Given the description of an element on the screen output the (x, y) to click on. 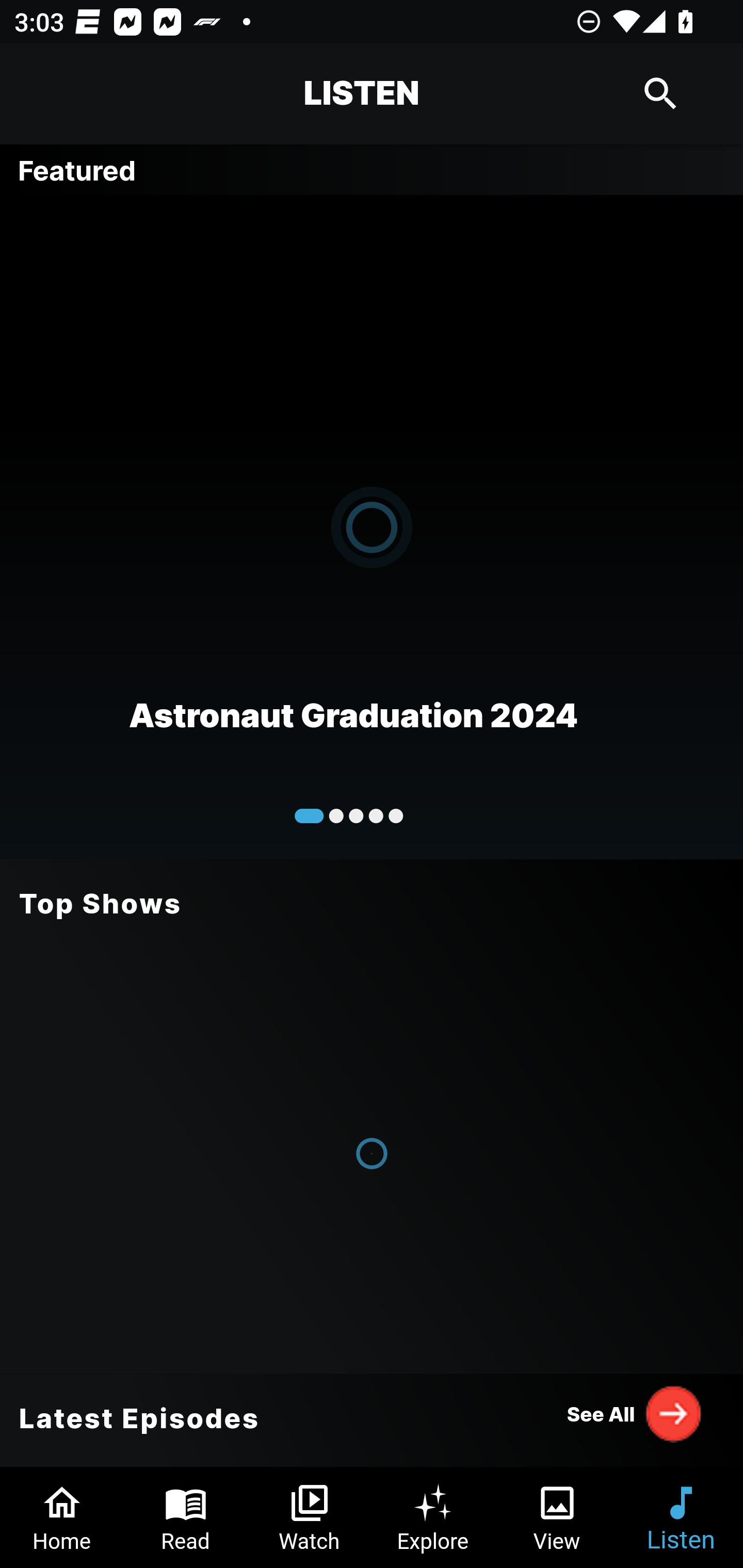
Astronaut Graduation 2024 (371, 526)
See All (634, 1413)
Home
Tab 1 of 6 (62, 1517)
Read
Tab 2 of 6 (185, 1517)
Watch
Tab 3 of 6 (309, 1517)
Explore
Tab 4 of 6 (433, 1517)
View
Tab 5 of 6 (556, 1517)
Listen
Tab 6 of 6 (680, 1517)
